Given the description of an element on the screen output the (x, y) to click on. 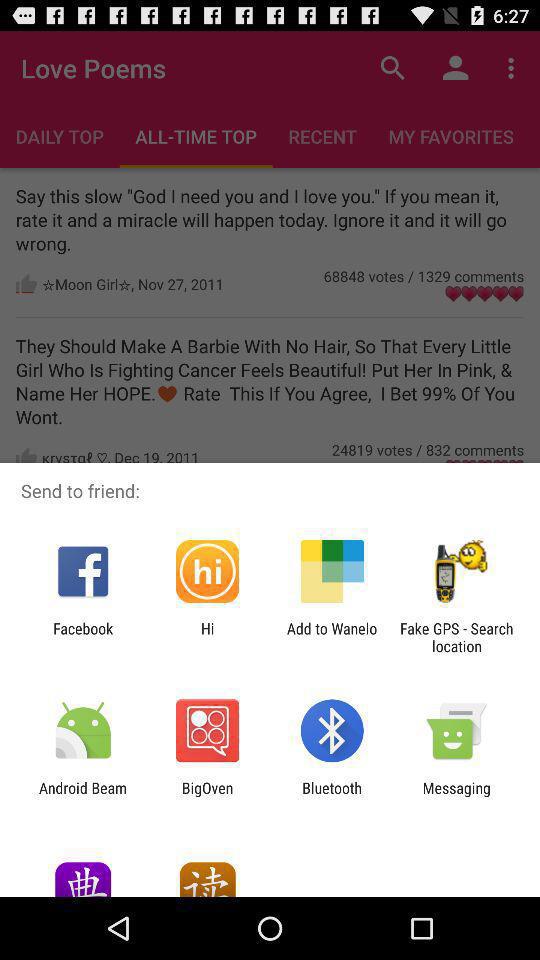
turn off the facebook app (83, 637)
